Given the description of an element on the screen output the (x, y) to click on. 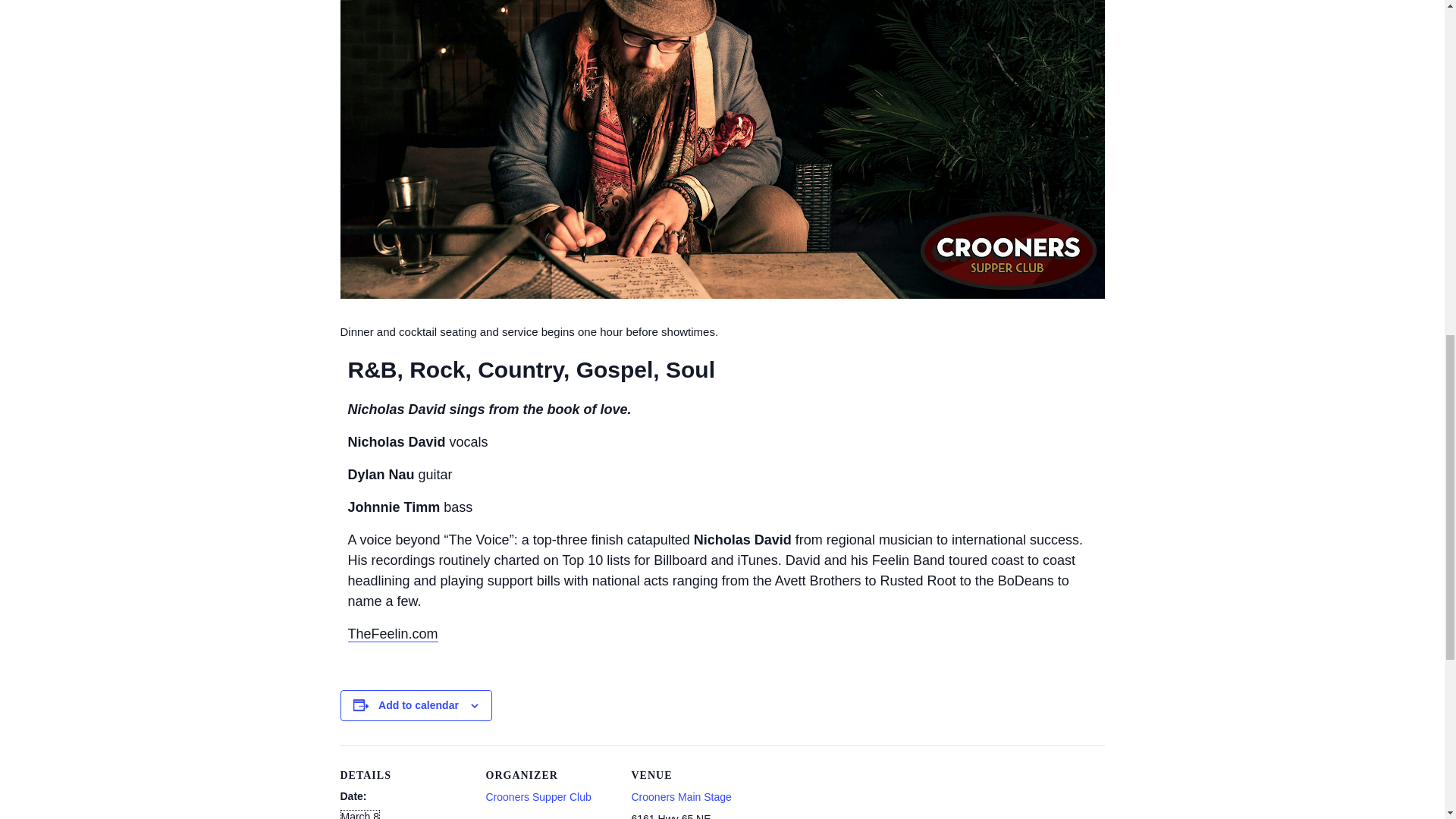
Crooners Supper Club (537, 797)
Crooners Supper Club (537, 797)
TheFeelin.com (392, 634)
Crooners Main Stage (680, 797)
Add to calendar (418, 705)
2024-03-08 (359, 814)
